Given the description of an element on the screen output the (x, y) to click on. 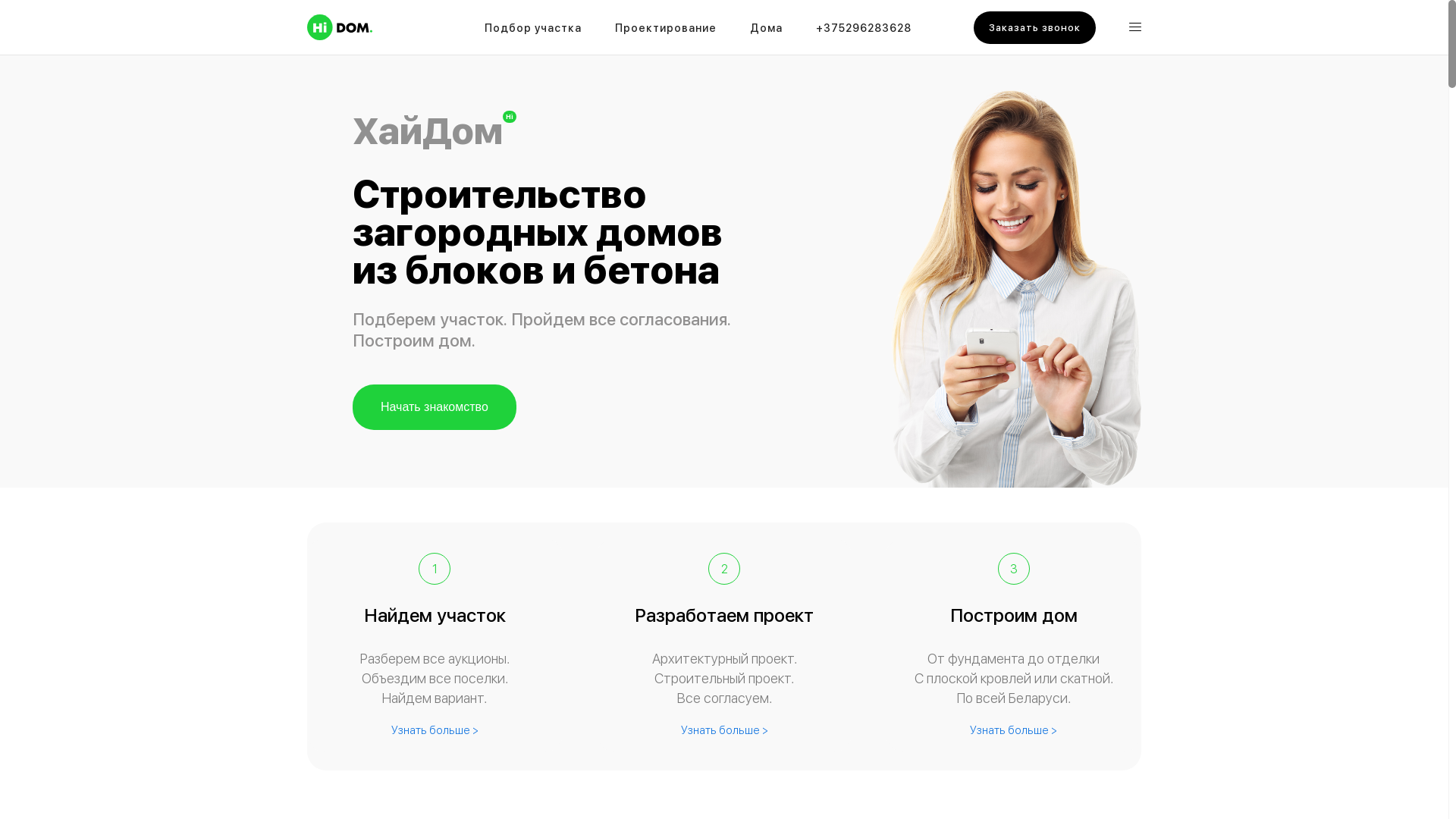
+375296283628 Element type: text (863, 30)
